Given the description of an element on the screen output the (x, y) to click on. 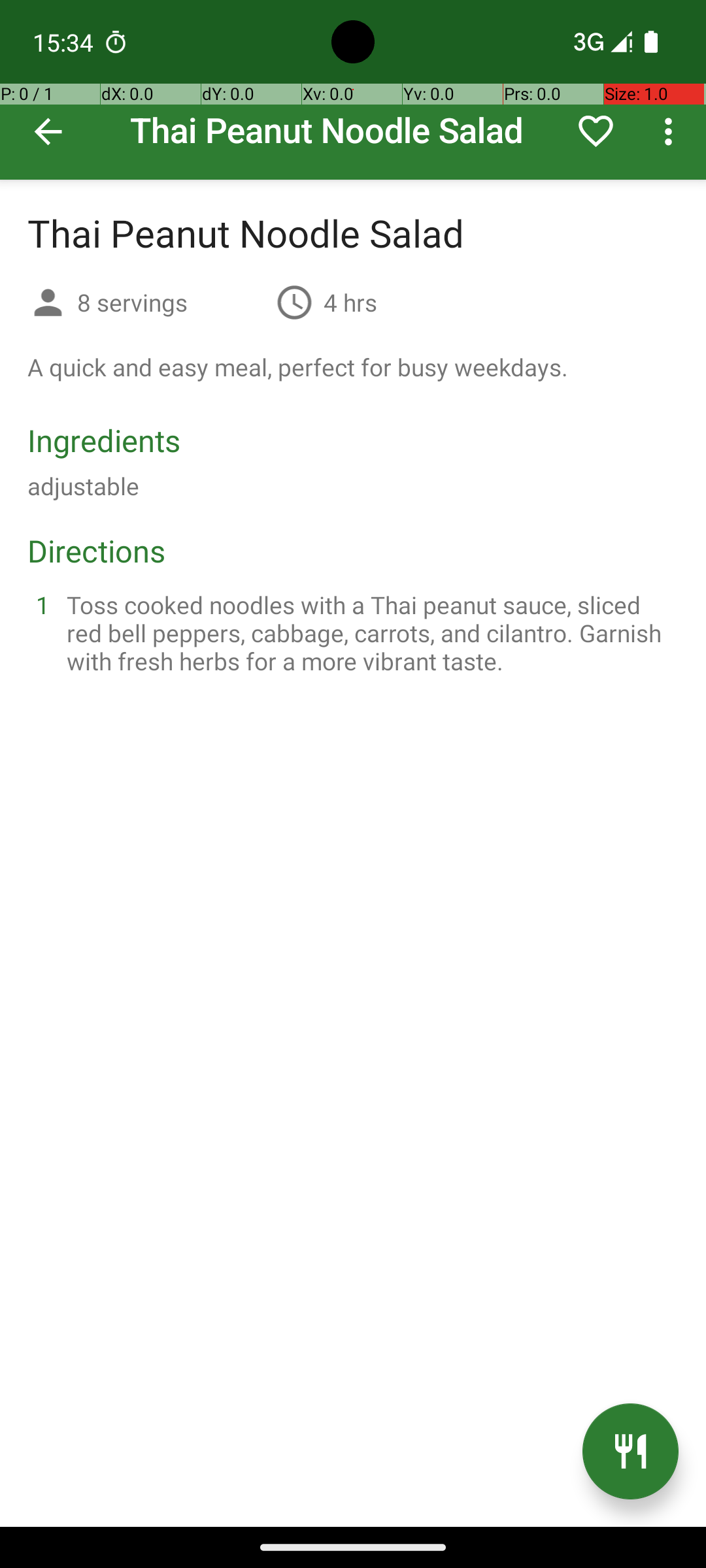
Thai Peanut Noodle Salad Element type: android.widget.FrameLayout (353, 89)
Toss cooked noodles with a Thai peanut sauce, sliced red bell peppers, cabbage, carrots, and cilantro. Garnish with fresh herbs for a more vibrant taste. Element type: android.widget.TextView (368, 632)
